Given the description of an element on the screen output the (x, y) to click on. 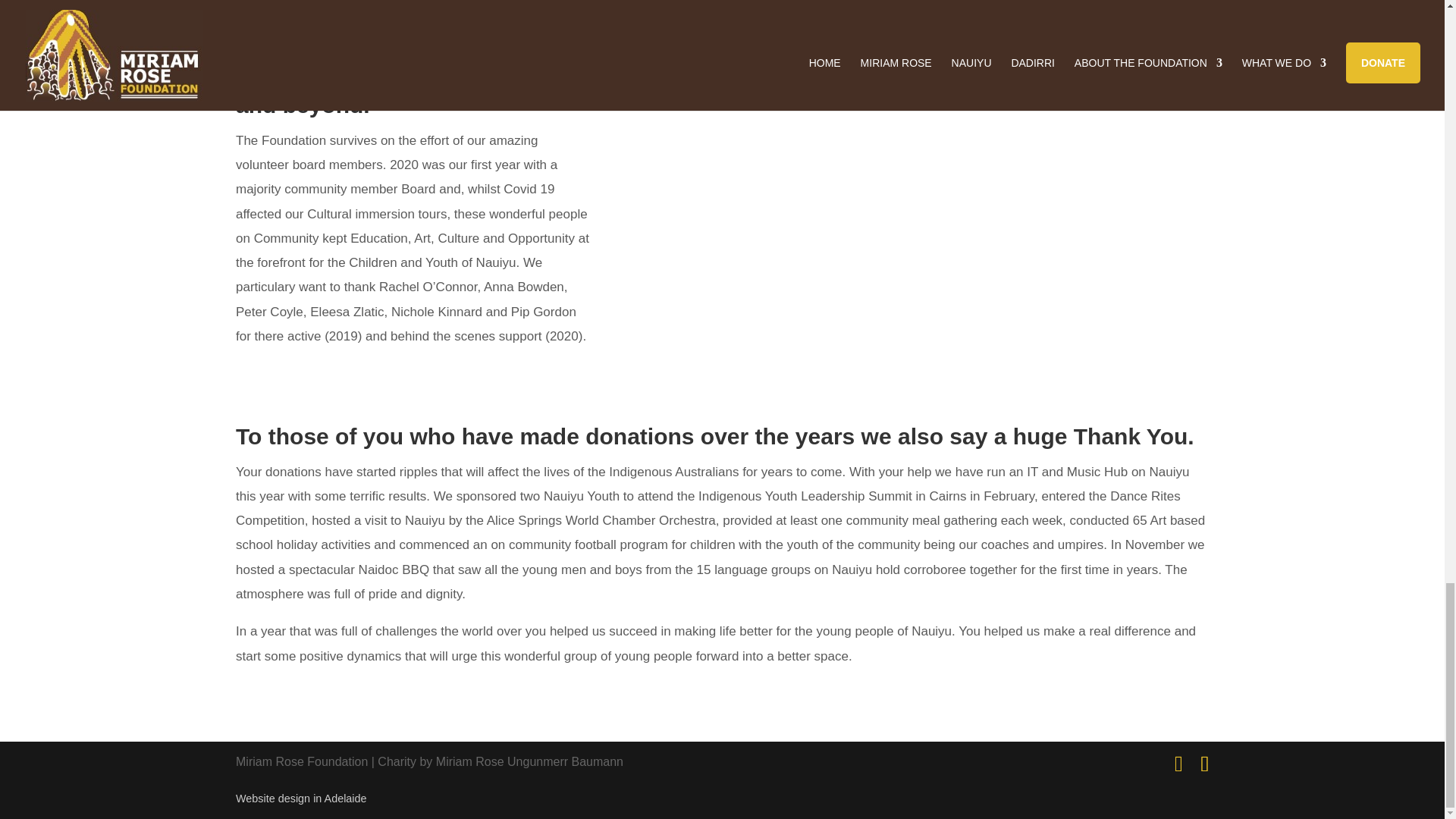
website adelaide (300, 798)
Website design in Adelaide (300, 798)
